Given the description of an element on the screen output the (x, y) to click on. 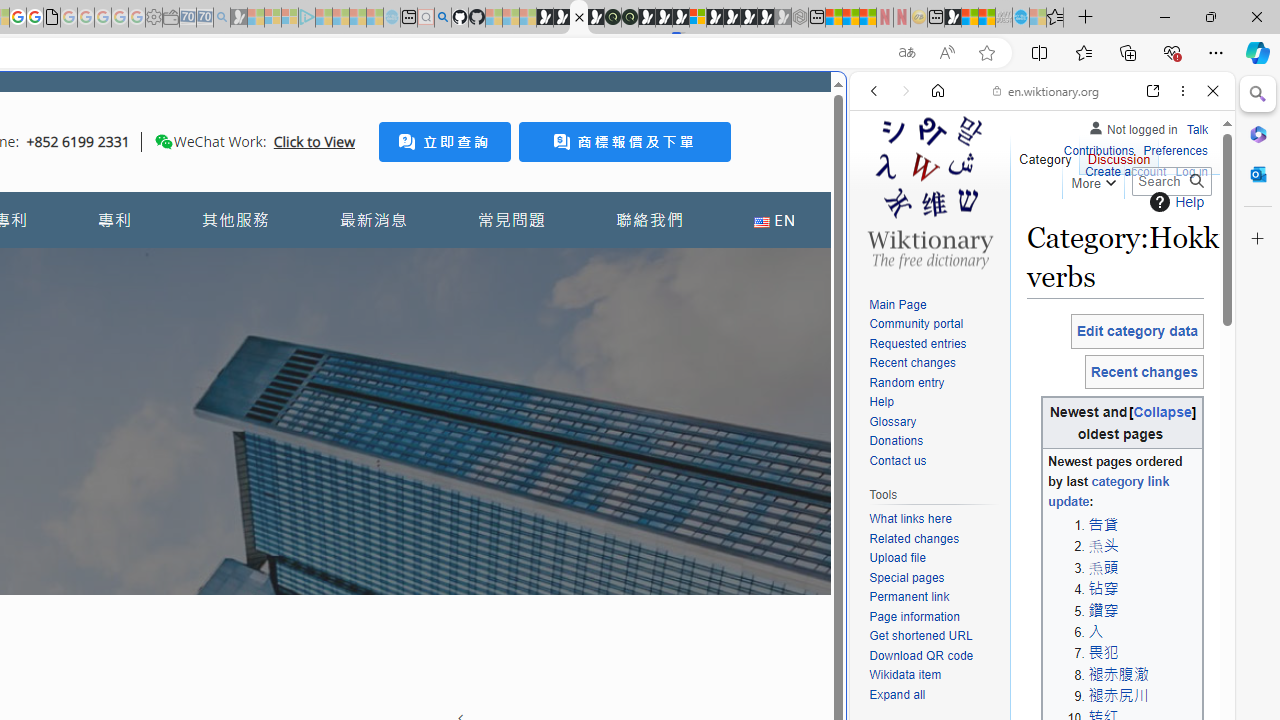
Not logged in (1132, 126)
[Collapse] (1161, 412)
Special pages (906, 577)
Visit the main page (929, 190)
